Given the description of an element on the screen output the (x, y) to click on. 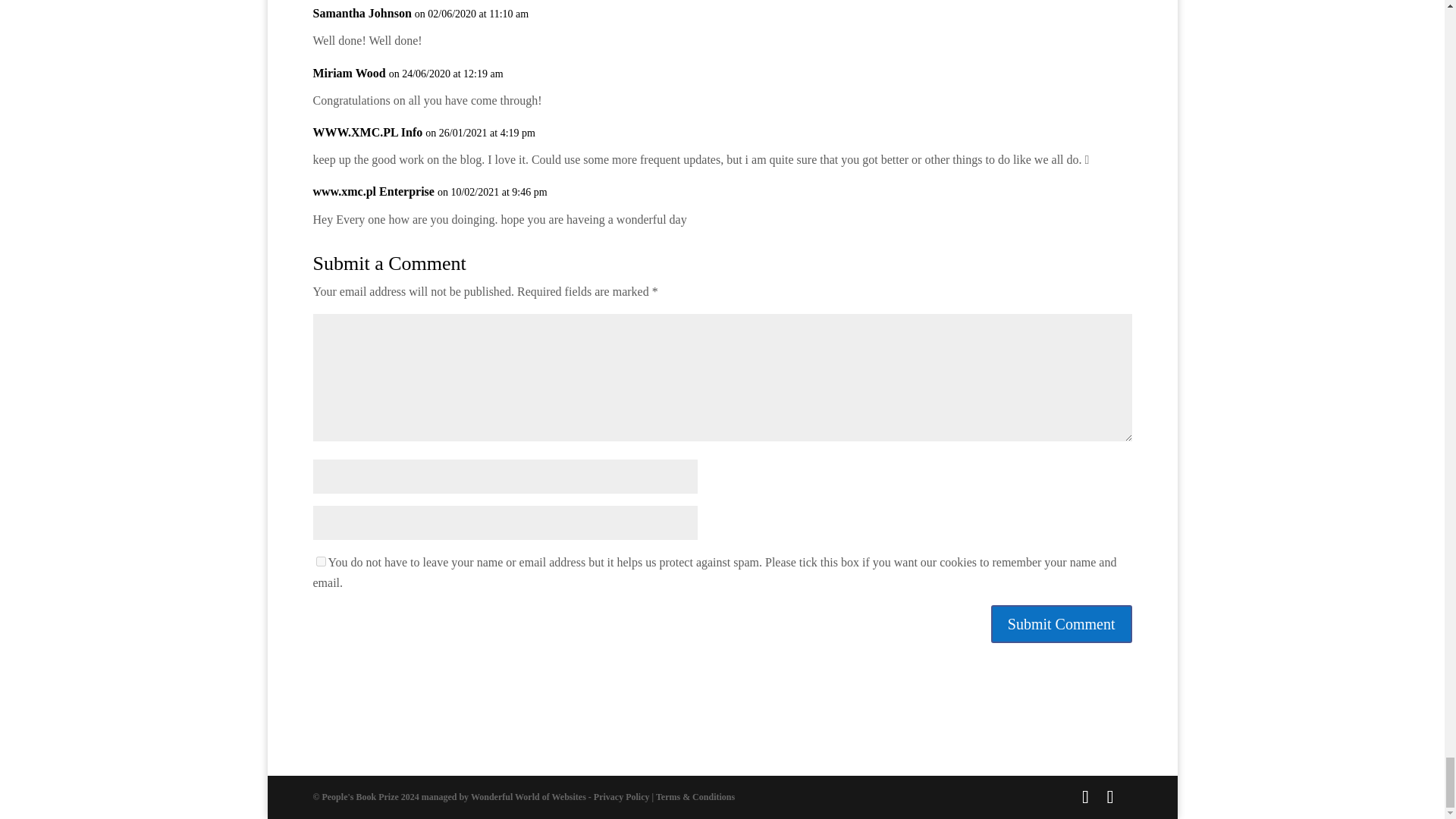
yes (319, 561)
